Given the description of an element on the screen output the (x, y) to click on. 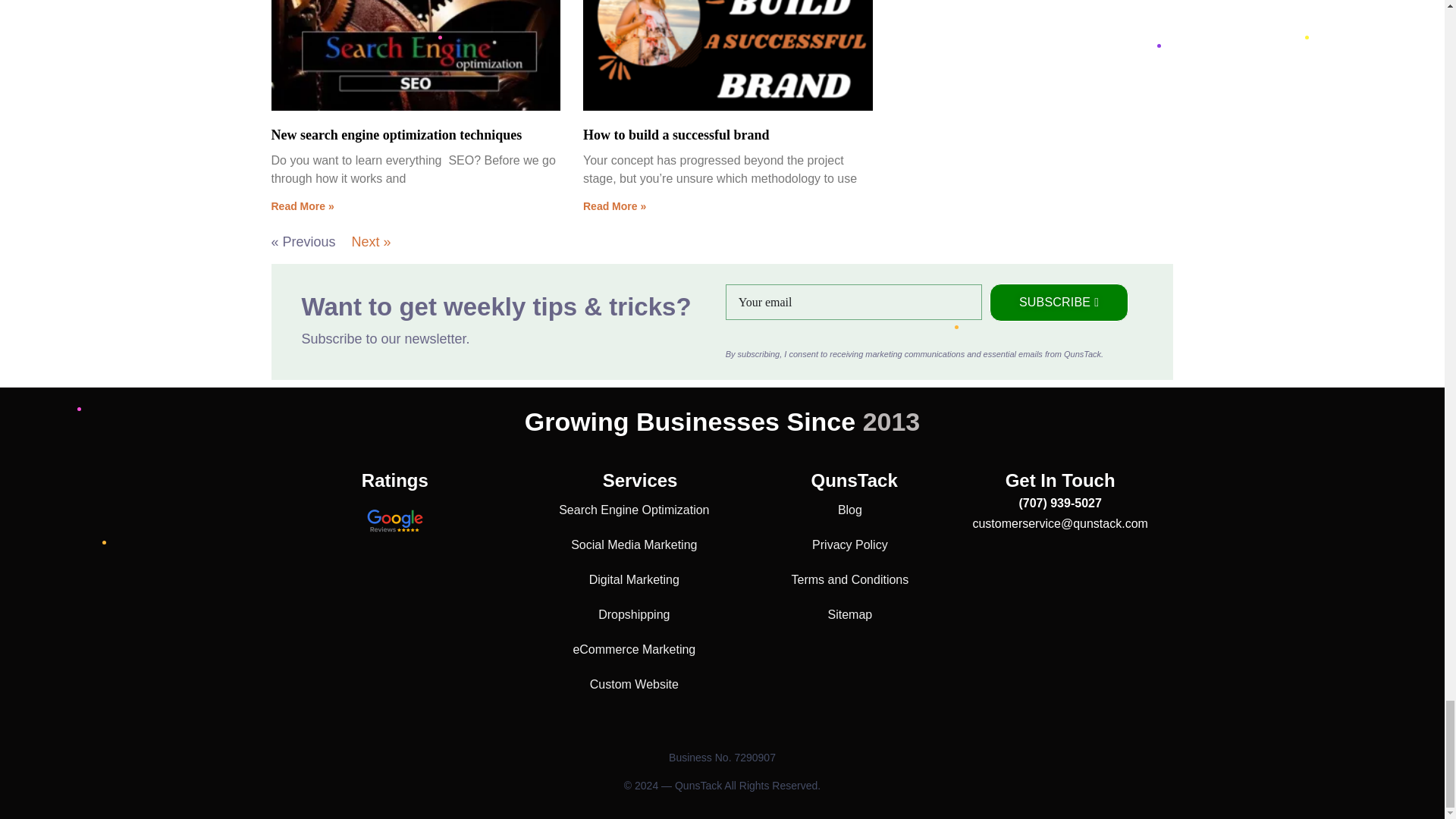
How-to-build-a-Successful-brand-2 (725, 65)
google-rating.pngw3 (394, 521)
How to build a successful brand (676, 134)
SUBSCRIBE (1059, 302)
New search engine optimization techniques (396, 134)
